Given the description of an element on the screen output the (x, y) to click on. 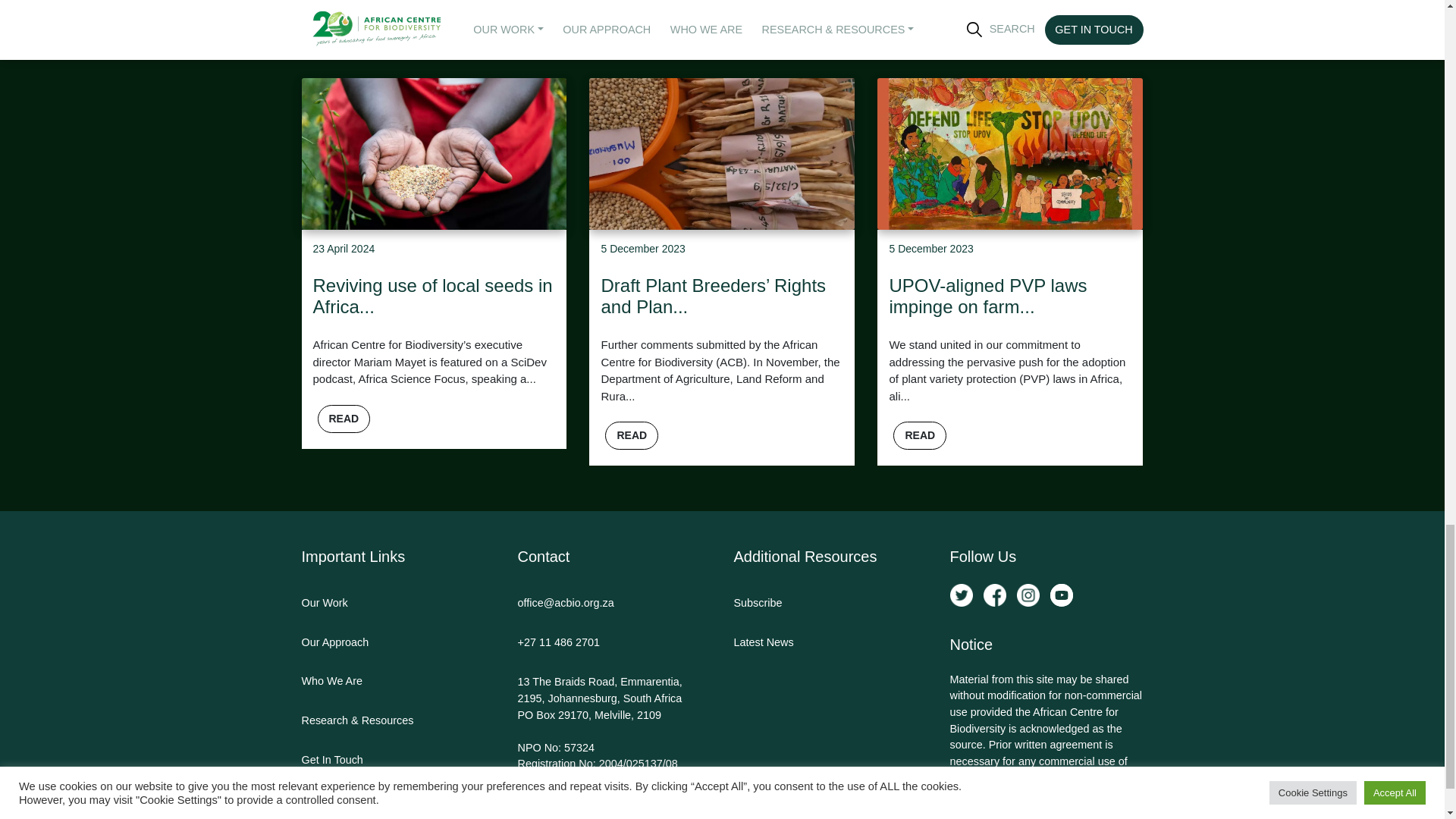
UPOV-aligned PVP laws impinge on farmer seed systems (1009, 152)
Reviving use of local seeds in African farming (433, 248)
UPOV-aligned PVP laws impinge on farmer seed systems (1009, 248)
Reviving use of local seeds in African farming (434, 152)
